Given the description of an element on the screen output the (x, y) to click on. 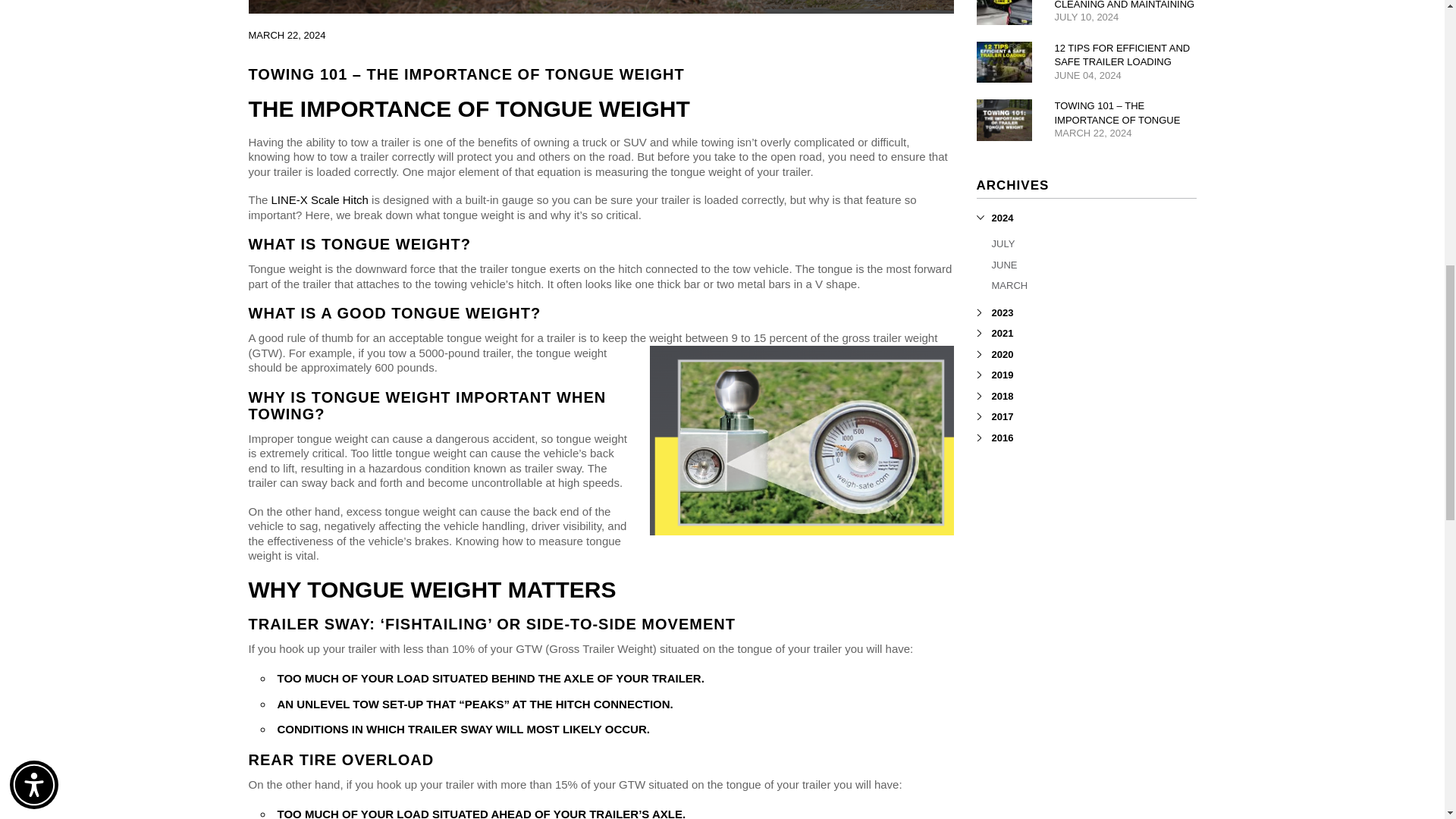
LINE-X Scale Hitch Scale (801, 440)
